Given the description of an element on the screen output the (x, y) to click on. 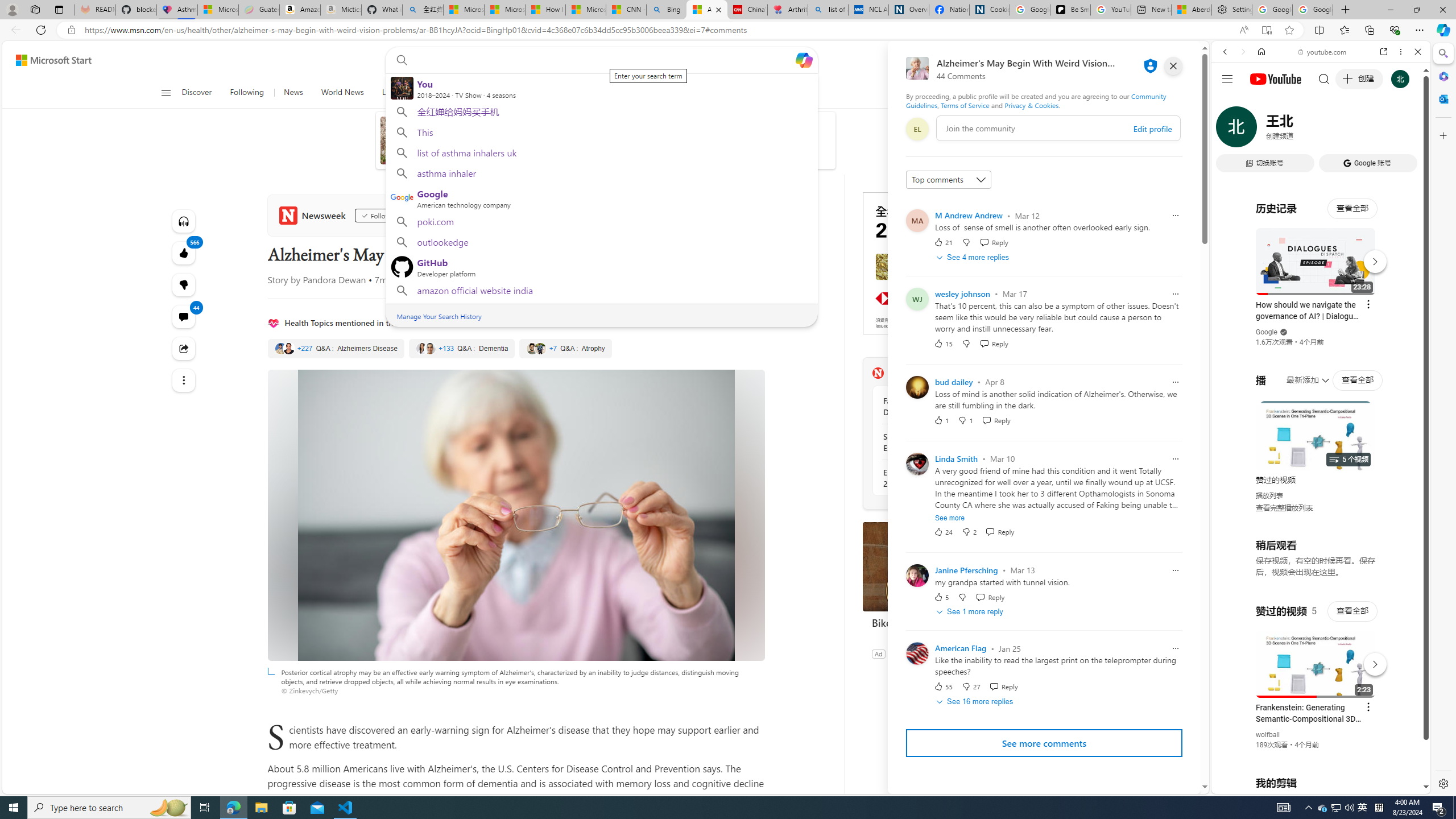
Local (390, 92)
Forward (1242, 51)
1 Like (940, 419)
wesley johnson (962, 293)
See 4 more replies (973, 257)
